Given the description of an element on the screen output the (x, y) to click on. 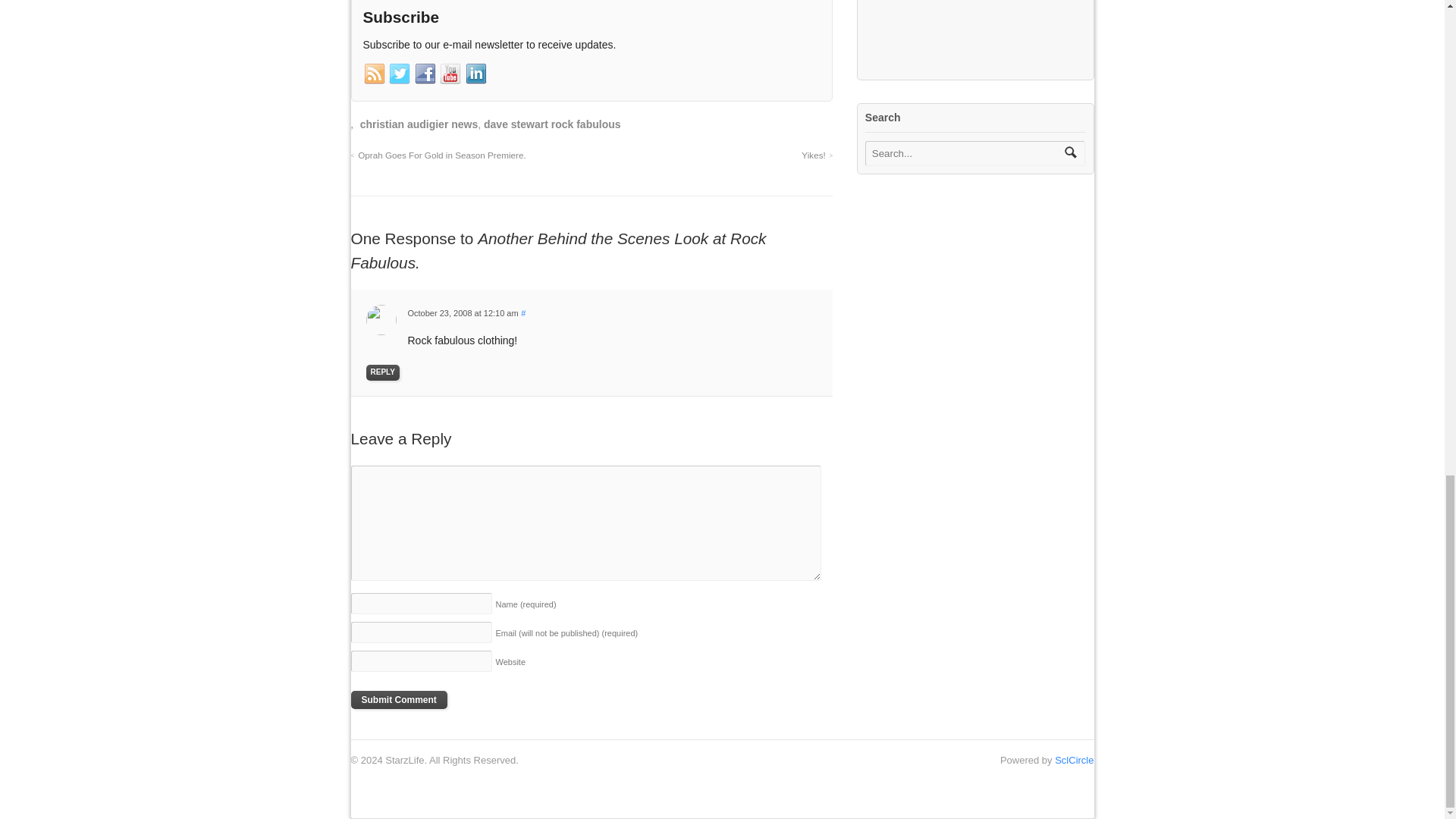
Yikes! (817, 154)
Submit Comment (398, 700)
REPLY (381, 372)
Facebook (424, 74)
Oprah Goes For Gold in Season Premiere. (437, 154)
RSS (373, 74)
YouTube (450, 74)
Twitter (399, 74)
Search... (965, 153)
LinkedIn (475, 74)
